Given the description of an element on the screen output the (x, y) to click on. 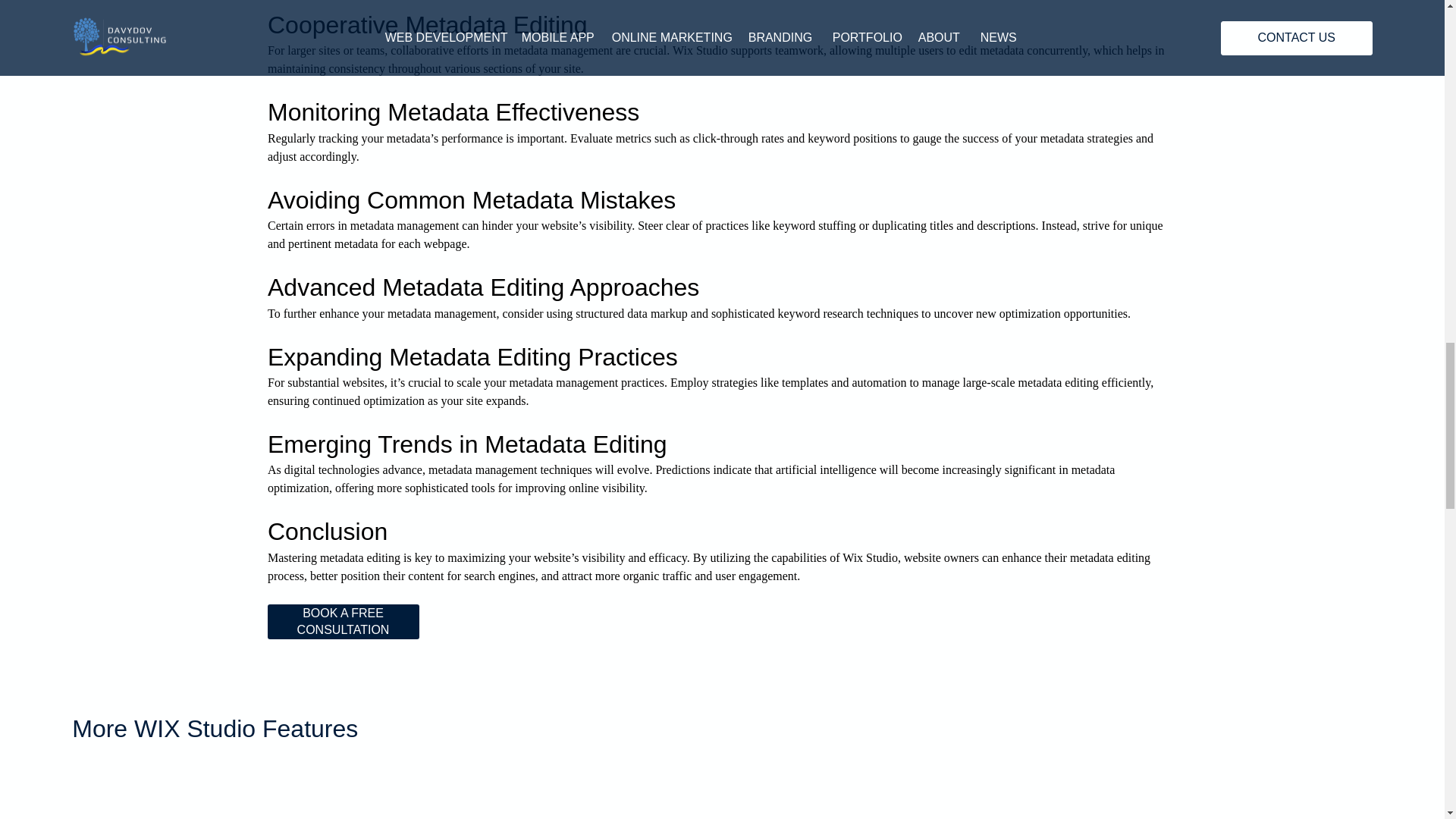
BOOK A FREE CONSULTATION (342, 621)
